Given the description of an element on the screen output the (x, y) to click on. 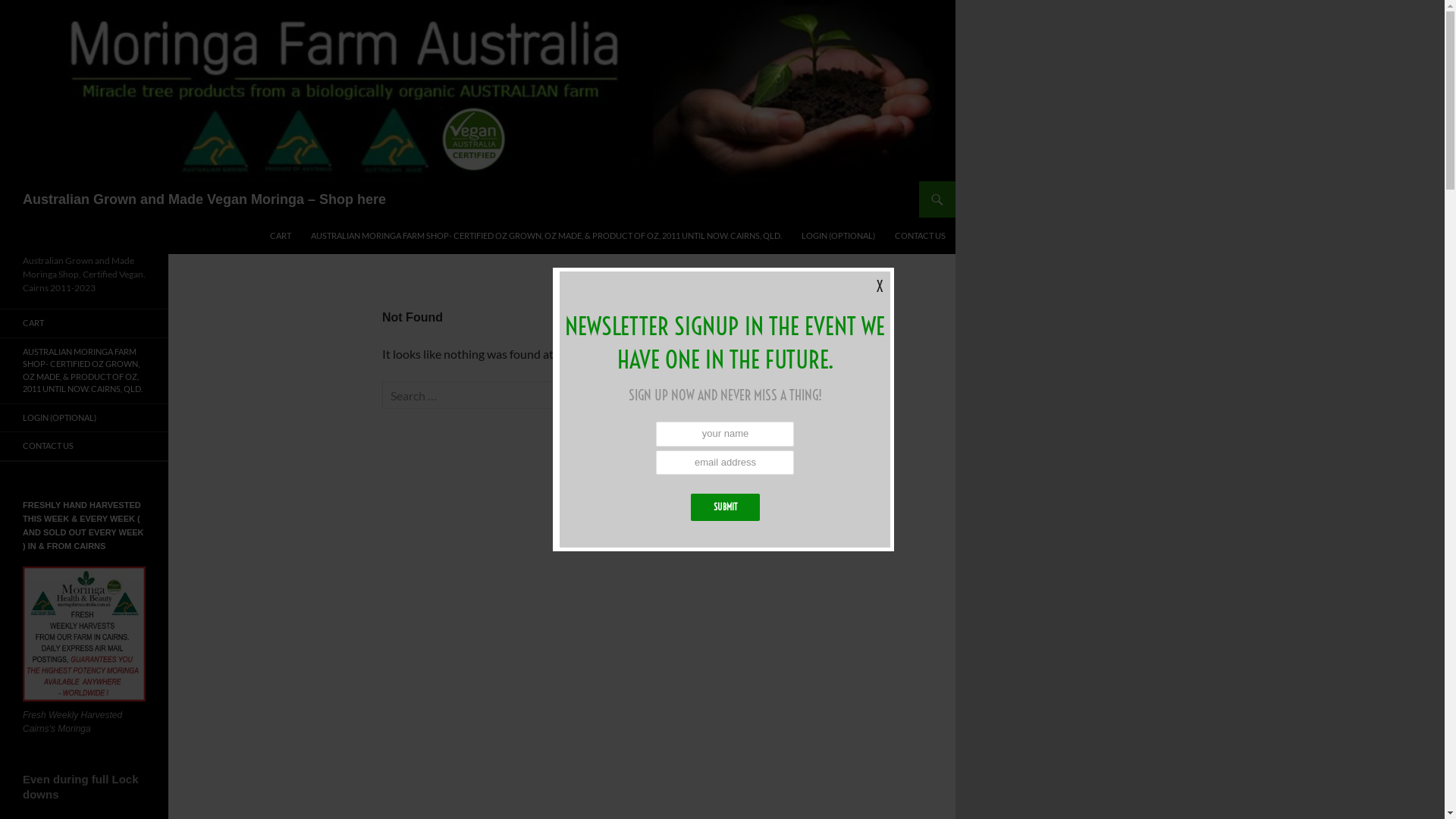
CONTACT US Element type: text (84, 446)
X Element type: text (879, 285)
SUBMIT Element type: text (724, 506)
Search Element type: text (3, 180)
WEEKLY HARVESTS & DAILY EXPRESS POSTINGS Element type: hover (83, 633)
Search Element type: text (42, 13)
LOGIN (OPTIONAL) Element type: text (84, 417)
CONTACT US Element type: text (919, 235)
SKIP TO CONTENT Element type: text (269, 216)
LOGIN (OPTIONAL) Element type: text (838, 235)
CART Element type: text (84, 323)
X Element type: text (879, 286)
CART Element type: text (280, 235)
